Given the description of an element on the screen output the (x, y) to click on. 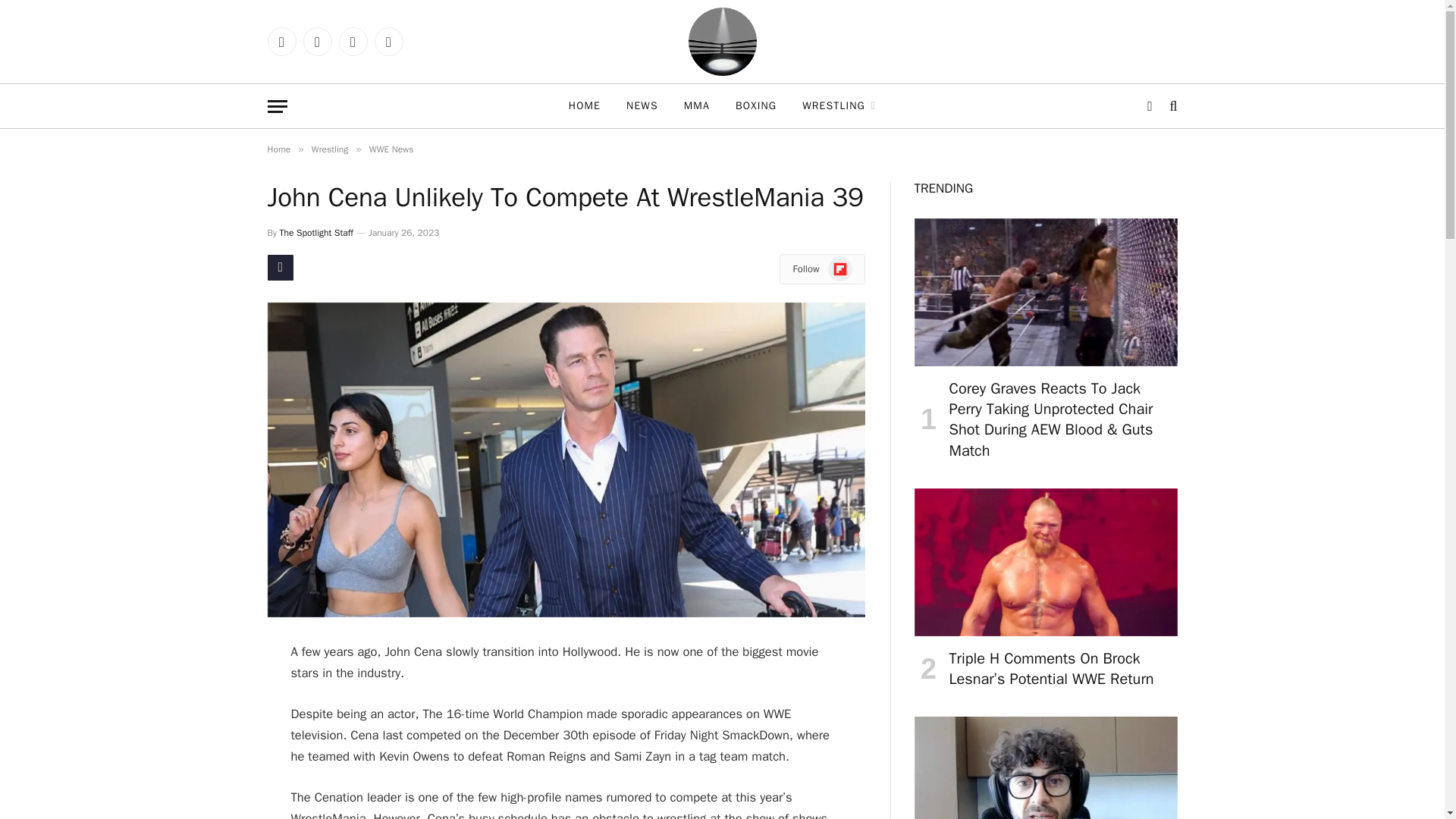
YouTube (351, 41)
Search (1171, 106)
MMA (696, 105)
The Spotlight (722, 41)
WRESTLING (838, 105)
NEWS (641, 105)
Copy Link (279, 267)
BOXING (755, 105)
HOME (584, 105)
Threads (316, 41)
Posts by The Spotlight Staff (316, 232)
Switch to Dark Design - easier on eyes. (1149, 106)
Facebook (280, 41)
